Given the description of an element on the screen output the (x, y) to click on. 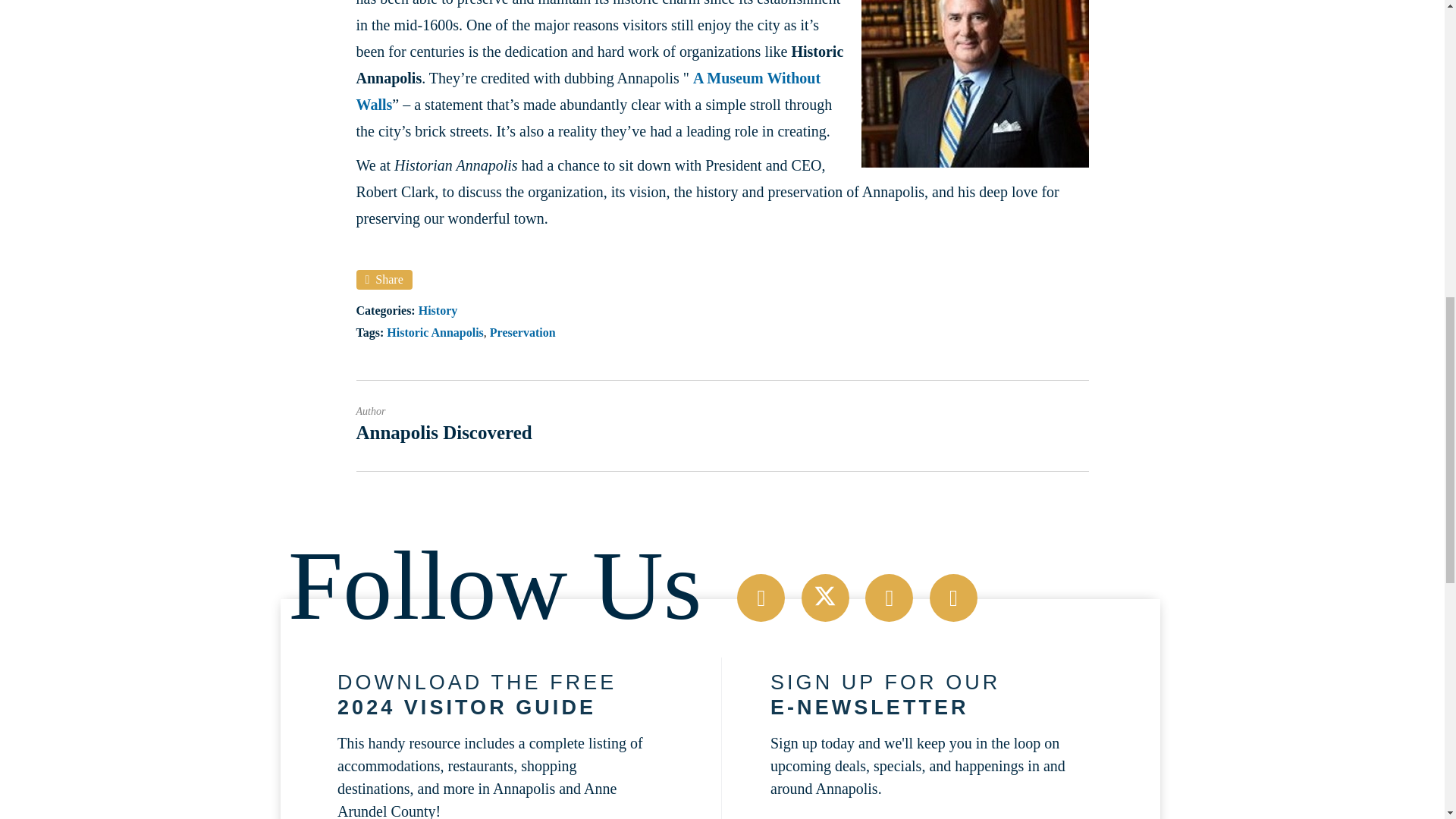
Visit our facebook page (760, 597)
History (438, 309)
Visit our twitter page (825, 597)
Historic Annapolis (435, 332)
Preservation (522, 332)
A Museum Without Walls (588, 91)
Visit our youtube page (953, 597)
Share (384, 279)
Visit our instagram page (888, 597)
